Given the description of an element on the screen output the (x, y) to click on. 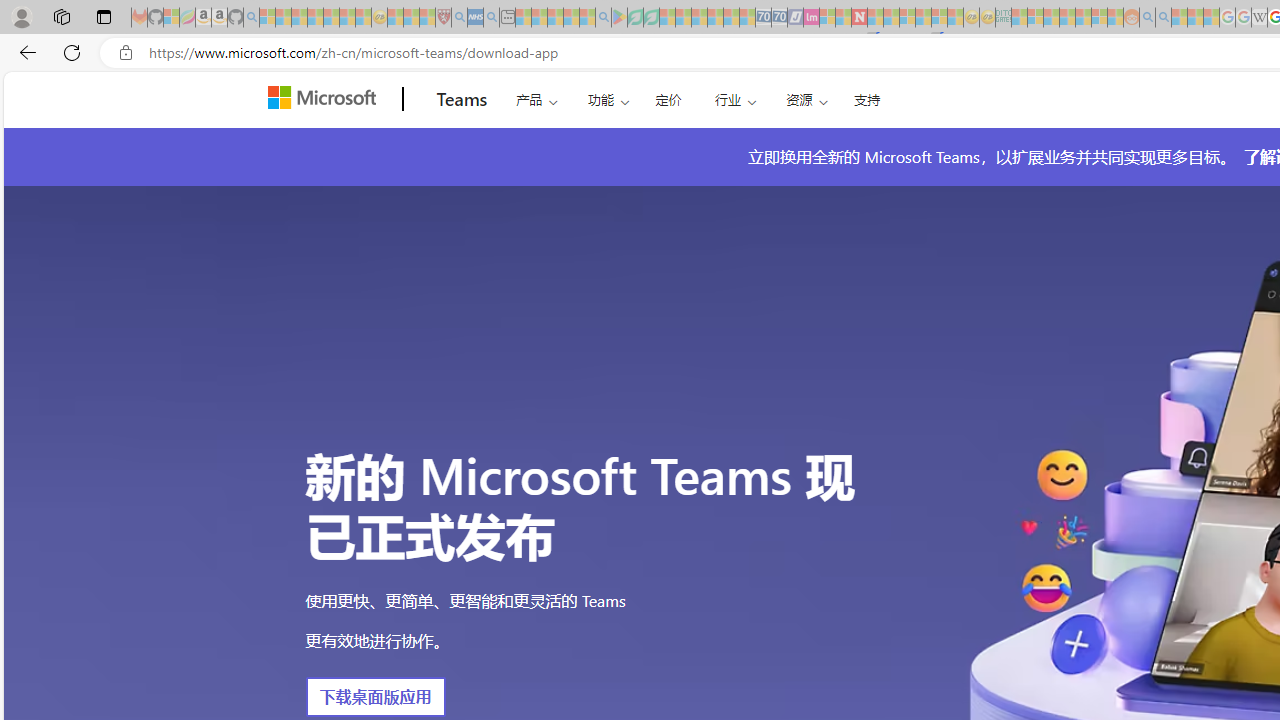
Recipes - MSN - Sleeping (395, 17)
Terms of Use Agreement - Sleeping (635, 17)
Utah sues federal government - Search - Sleeping (1163, 17)
The Weather Channel - MSN - Sleeping (299, 17)
